Given the description of an element on the screen output the (x, y) to click on. 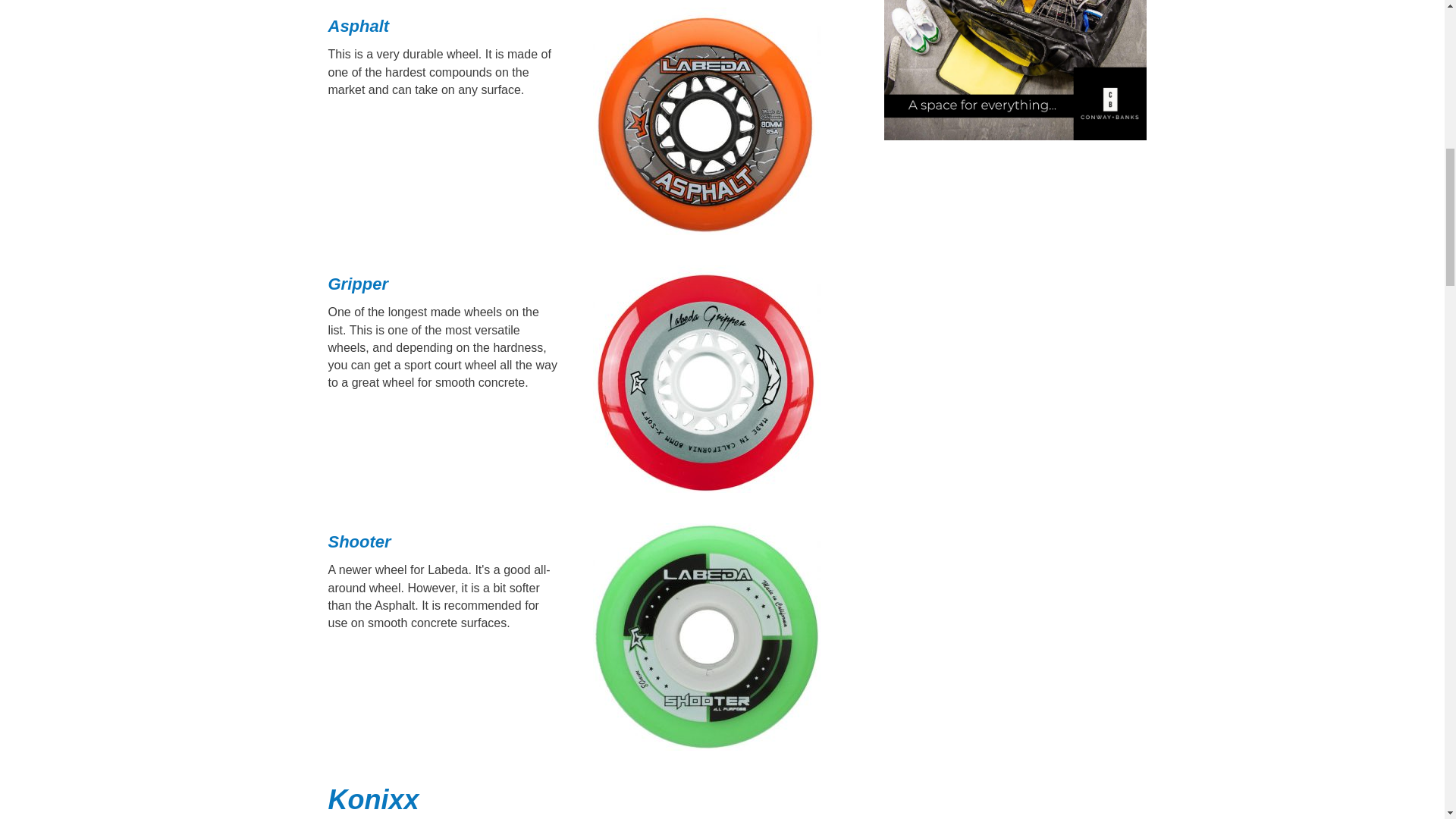
laveda-gripper (706, 379)
laveda-asphalt (706, 121)
labeda-shooter (706, 637)
